Given the description of an element on the screen output the (x, y) to click on. 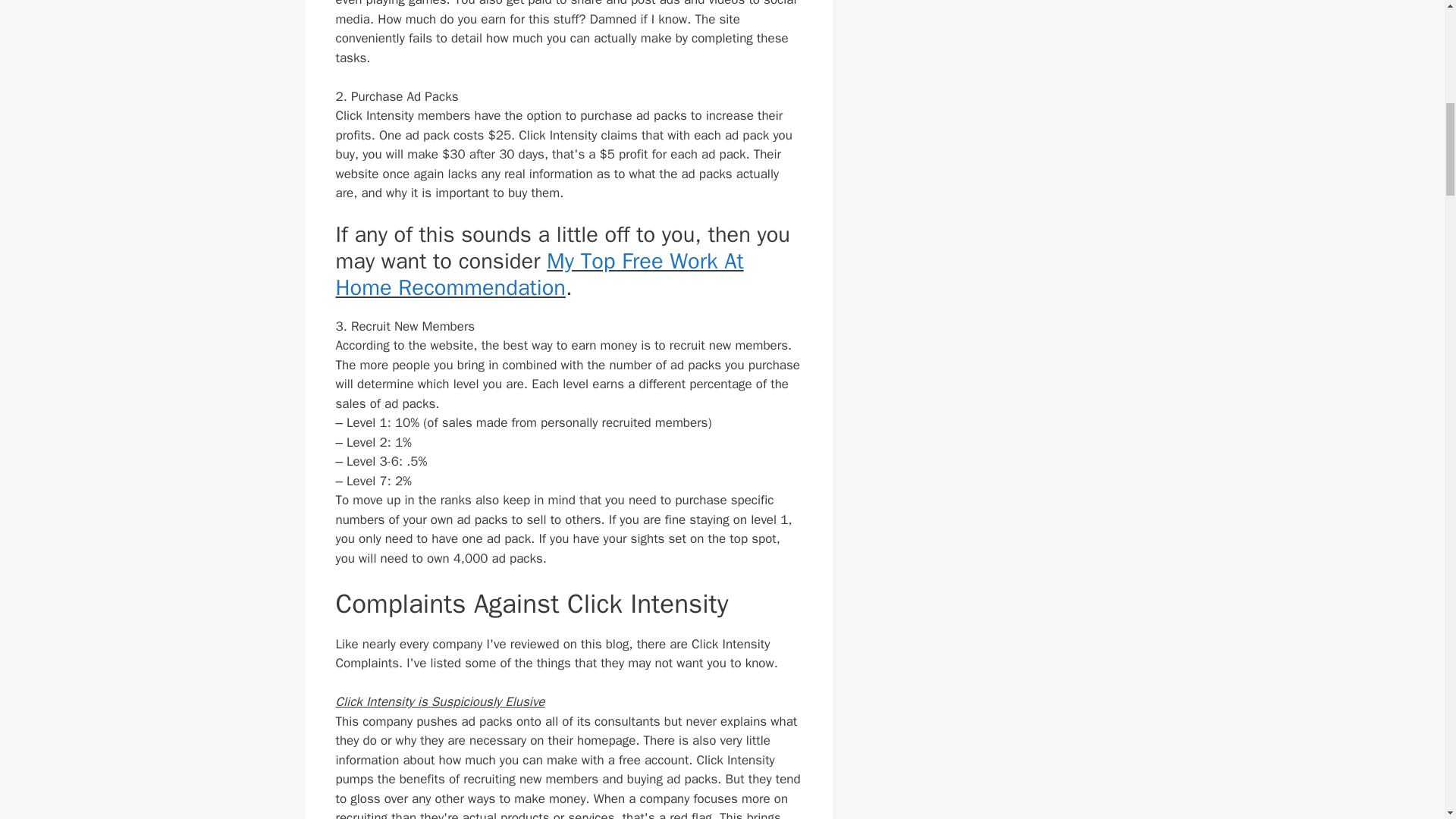
My Top Free Work At Home Recommendation (538, 274)
